Given the description of an element on the screen output the (x, y) to click on. 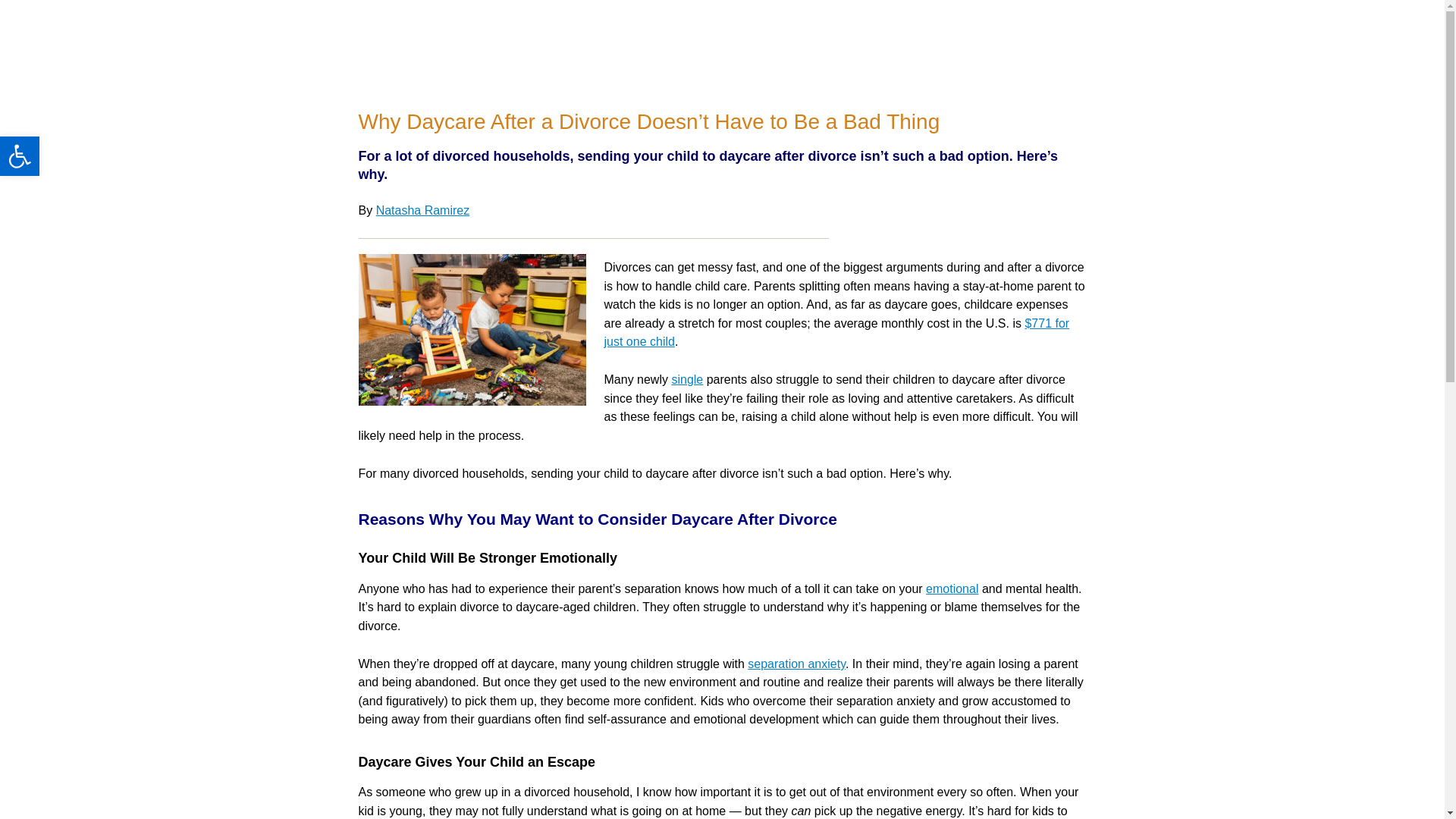
Open toolbar (19, 156)
Natasha Ramirez (422, 210)
emotional (952, 588)
Accessibility Tools (19, 156)
Posts by Natasha Ramirez (422, 210)
single (687, 379)
separation anxiety (796, 663)
